Given the description of an element on the screen output the (x, y) to click on. 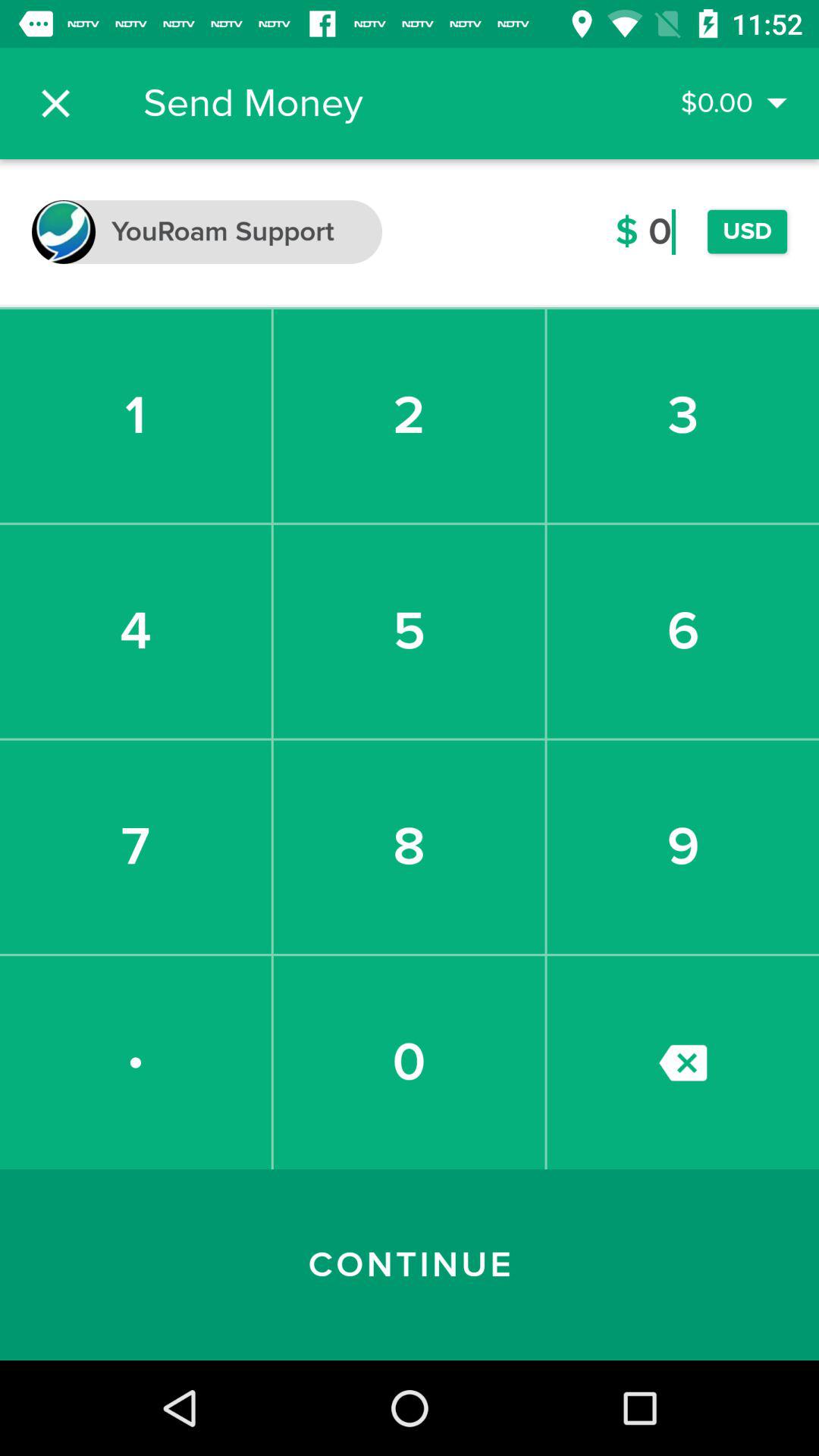
select icon next to send money (55, 103)
